Given the description of an element on the screen output the (x, y) to click on. 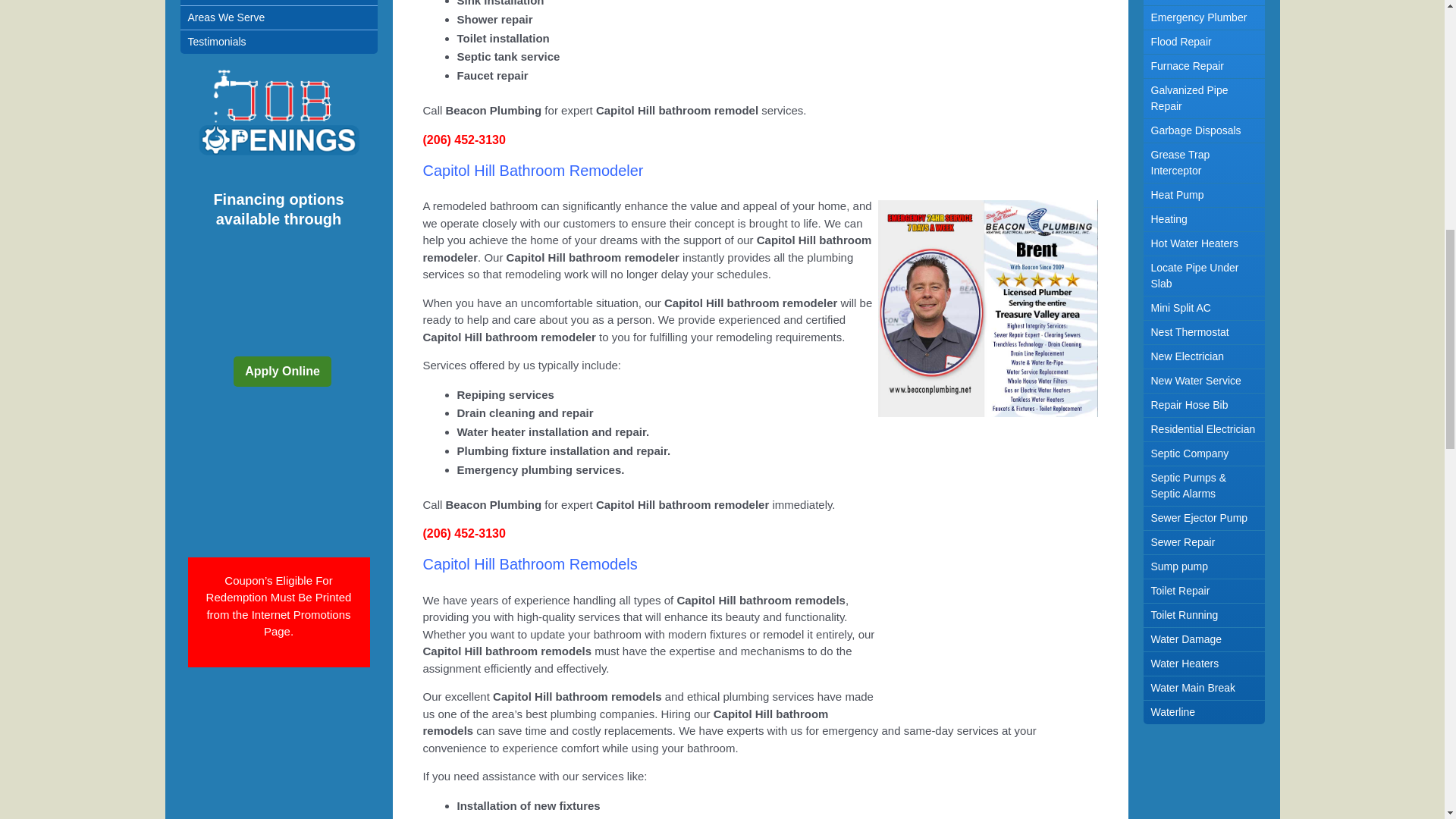
synchony prequal 1 (278, 475)
Apply Online (281, 371)
Emergency Plumbing Service Seattle (278, 754)
Job Openings Beacon Plumbing Seattle WA (278, 113)
